Given the description of an element on the screen output the (x, y) to click on. 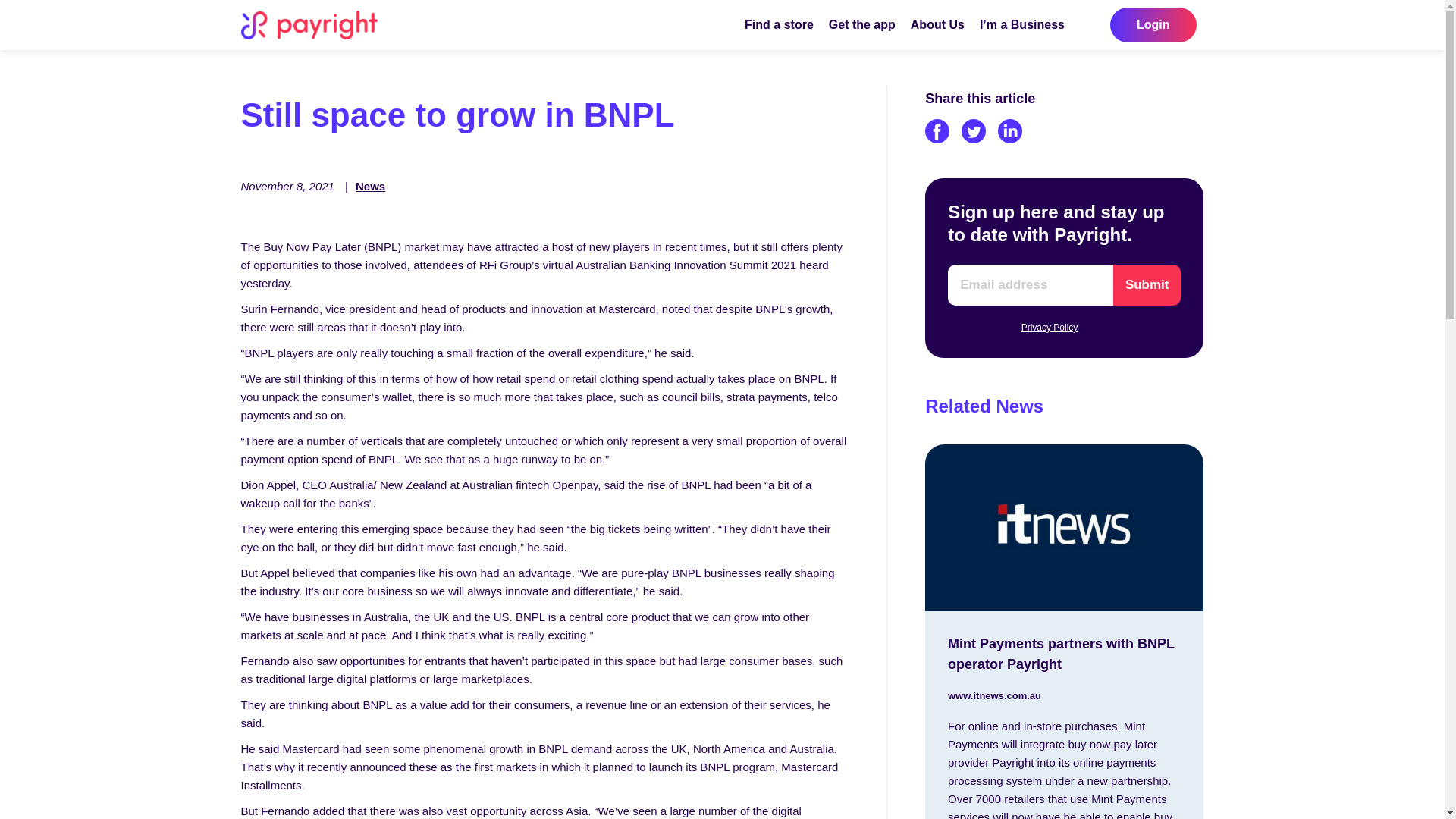
Find a store (778, 24)
Get the app (861, 24)
About Us (937, 24)
Privacy Policy (1049, 327)
Submit (1146, 284)
Submit (1146, 284)
Login (1153, 24)
